Given the description of an element on the screen output the (x, y) to click on. 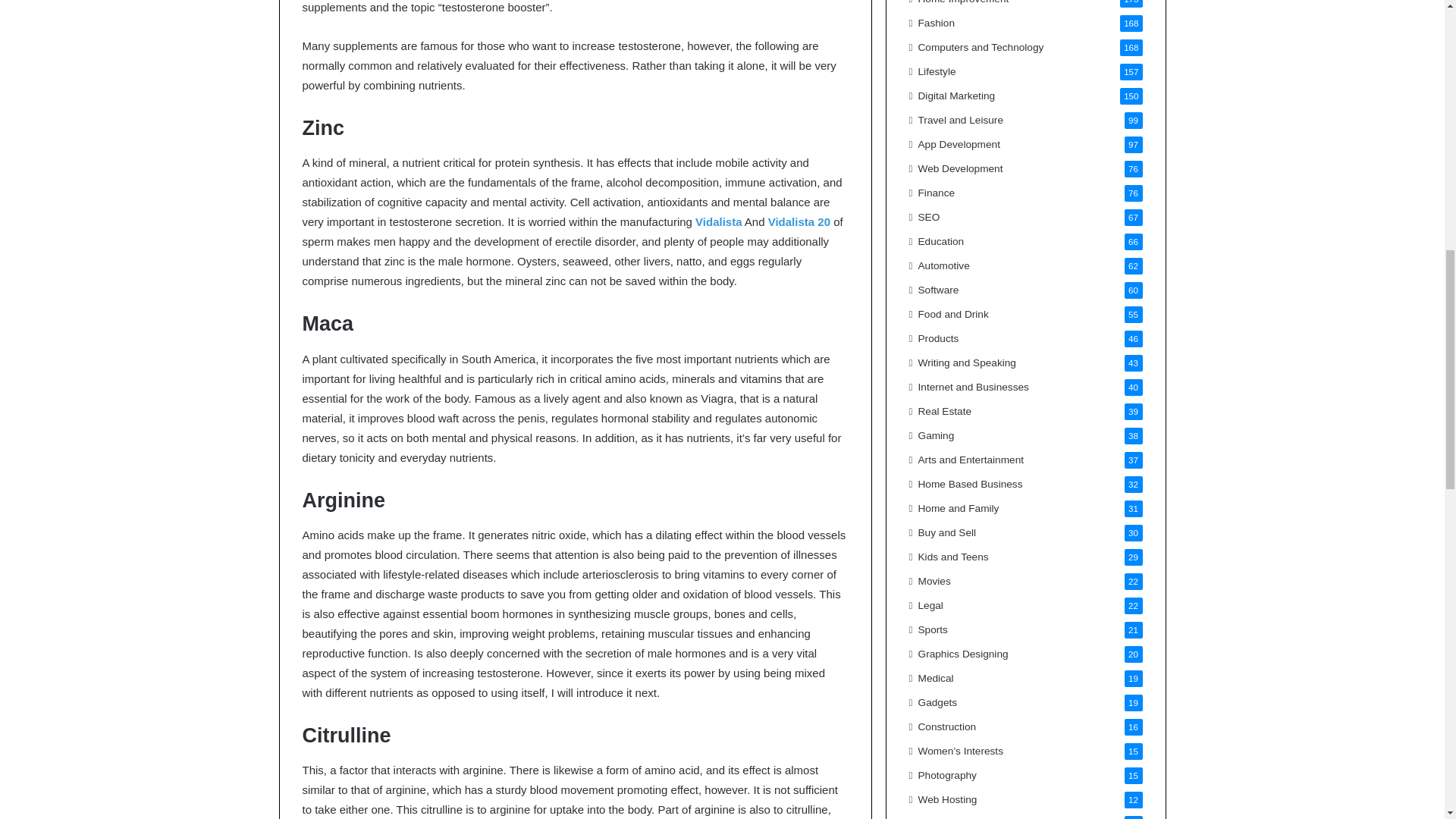
Vidalista 20 (798, 221)
Vidalista (718, 221)
